Given the description of an element on the screen output the (x, y) to click on. 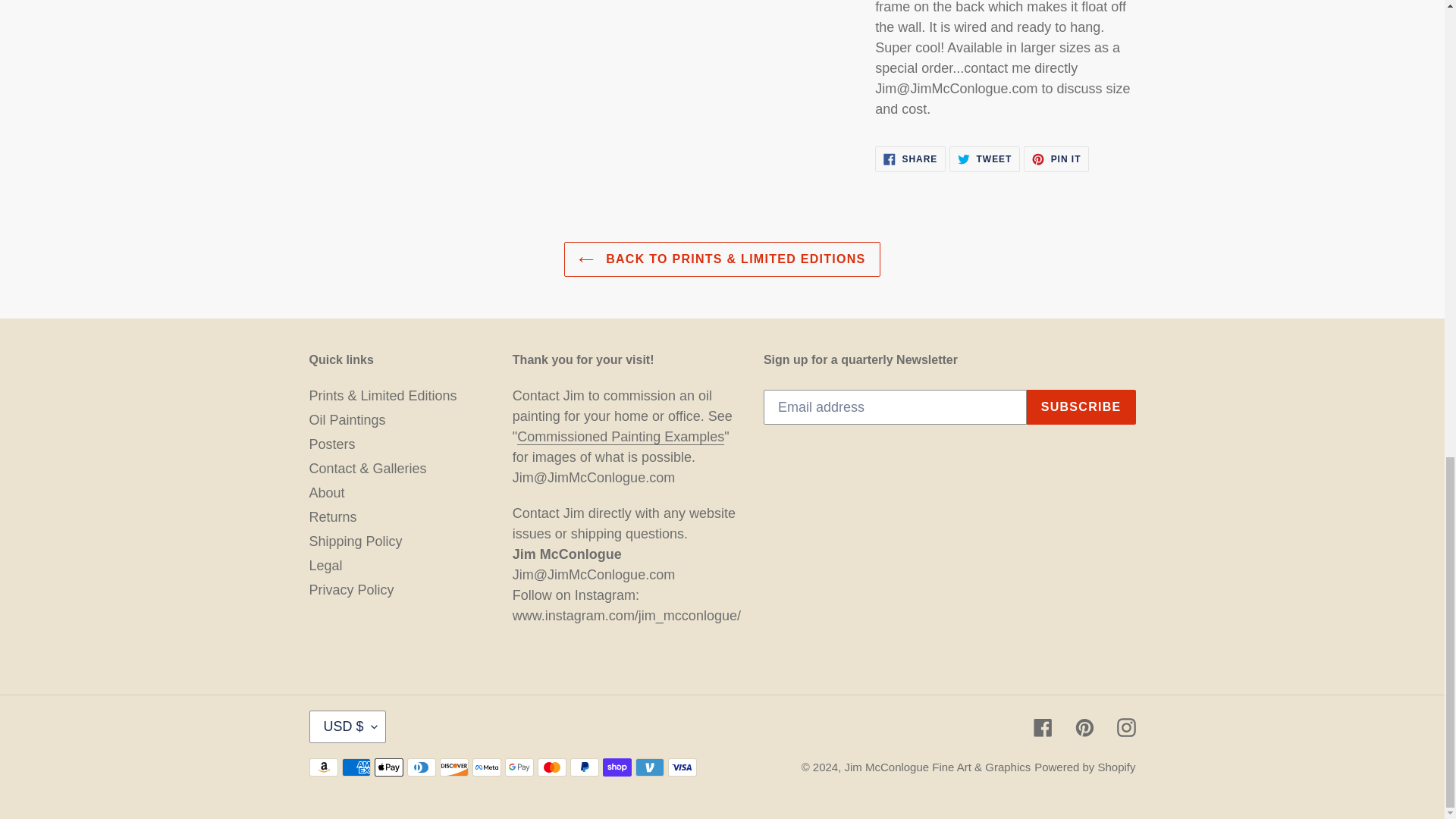
Commissioned Painting Examples (909, 158)
